Given the description of an element on the screen output the (x, y) to click on. 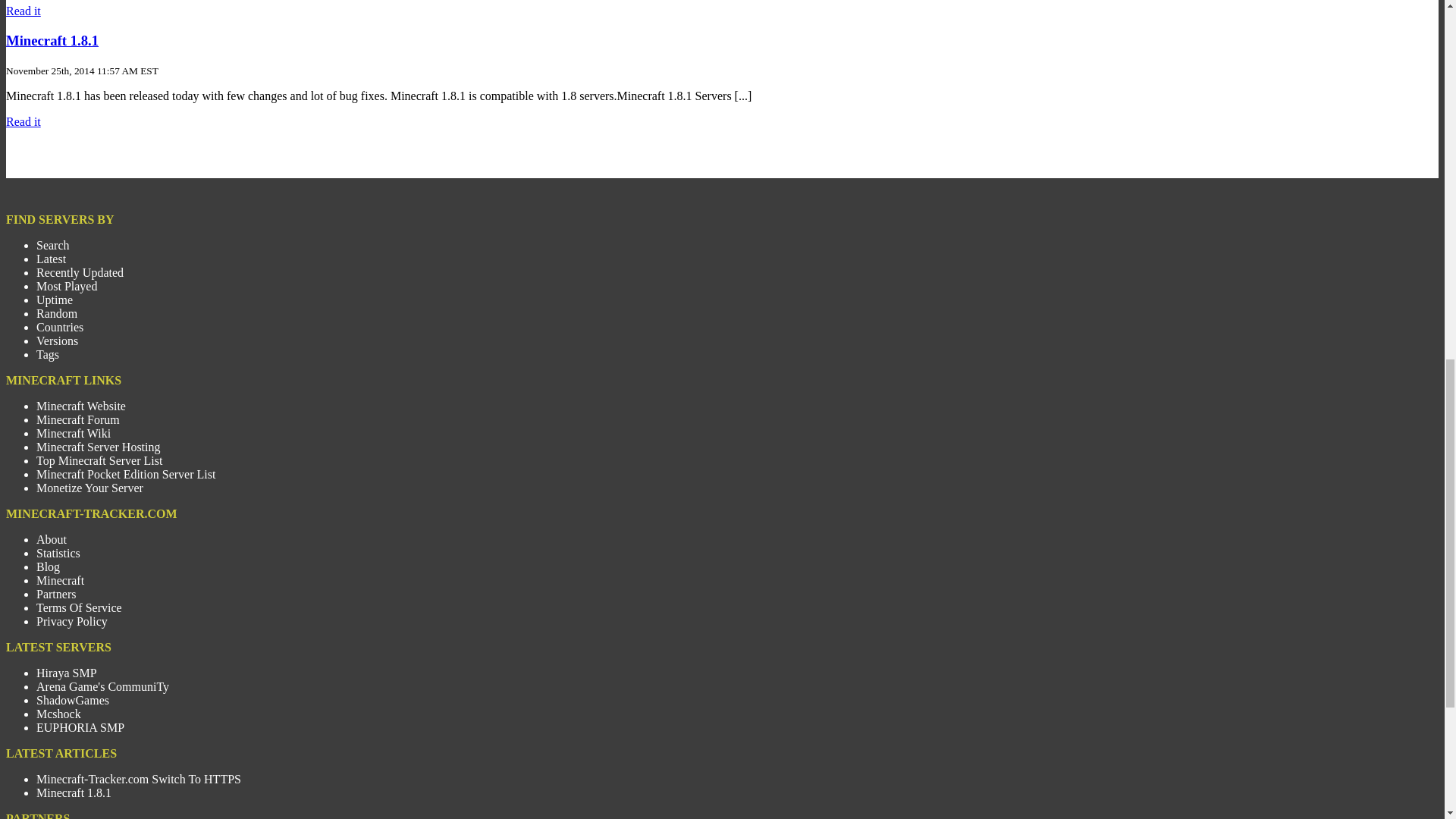
Monetize Your Minecraft Server with Tebex (89, 487)
